Given the description of an element on the screen output the (x, y) to click on. 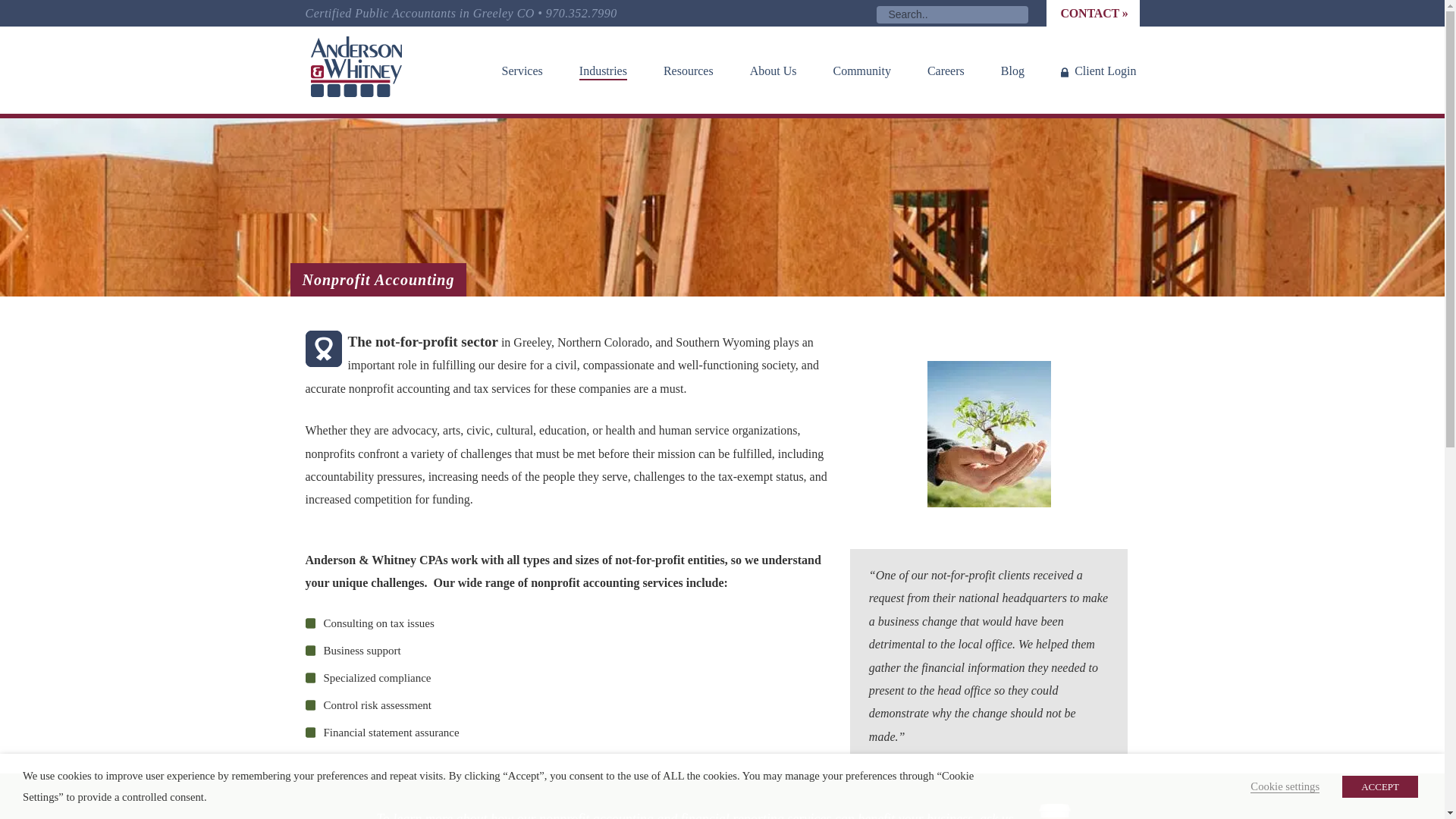
About Us (773, 71)
About Us (773, 71)
Services (521, 71)
Community (860, 71)
Blog (1012, 71)
Client Login (1098, 71)
Industries (602, 71)
Community (860, 71)
Blog (1012, 71)
Industries (602, 71)
Careers (945, 71)
Services (521, 71)
Client Login (1098, 71)
Resources (688, 71)
Careers (945, 71)
